Given the description of an element on the screen output the (x, y) to click on. 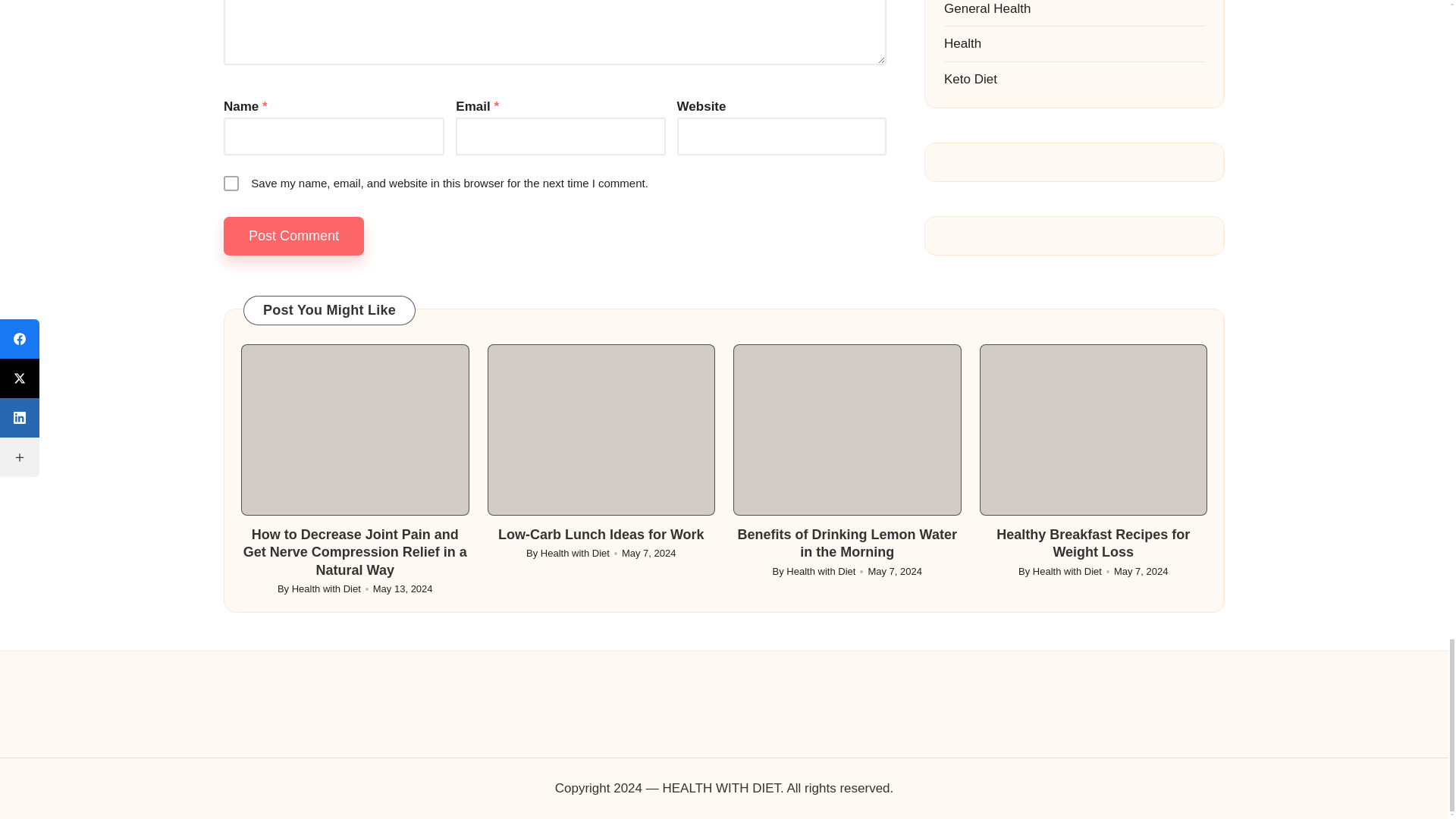
Post Comment (294, 236)
Low-Carb Lunch Ideas for Work 4 (600, 429)
View all posts by Health with Diet (326, 588)
View all posts by Health with Diet (575, 552)
Healthy Breakfast Recipes for Weight Loss 6 (1093, 429)
yes (231, 183)
Benefits of Drinking Lemon Water in the Morning 5 (846, 429)
View all posts by Health with Diet (821, 571)
Post Comment (294, 236)
View all posts by Health with Diet (1067, 571)
